Given the description of an element on the screen output the (x, y) to click on. 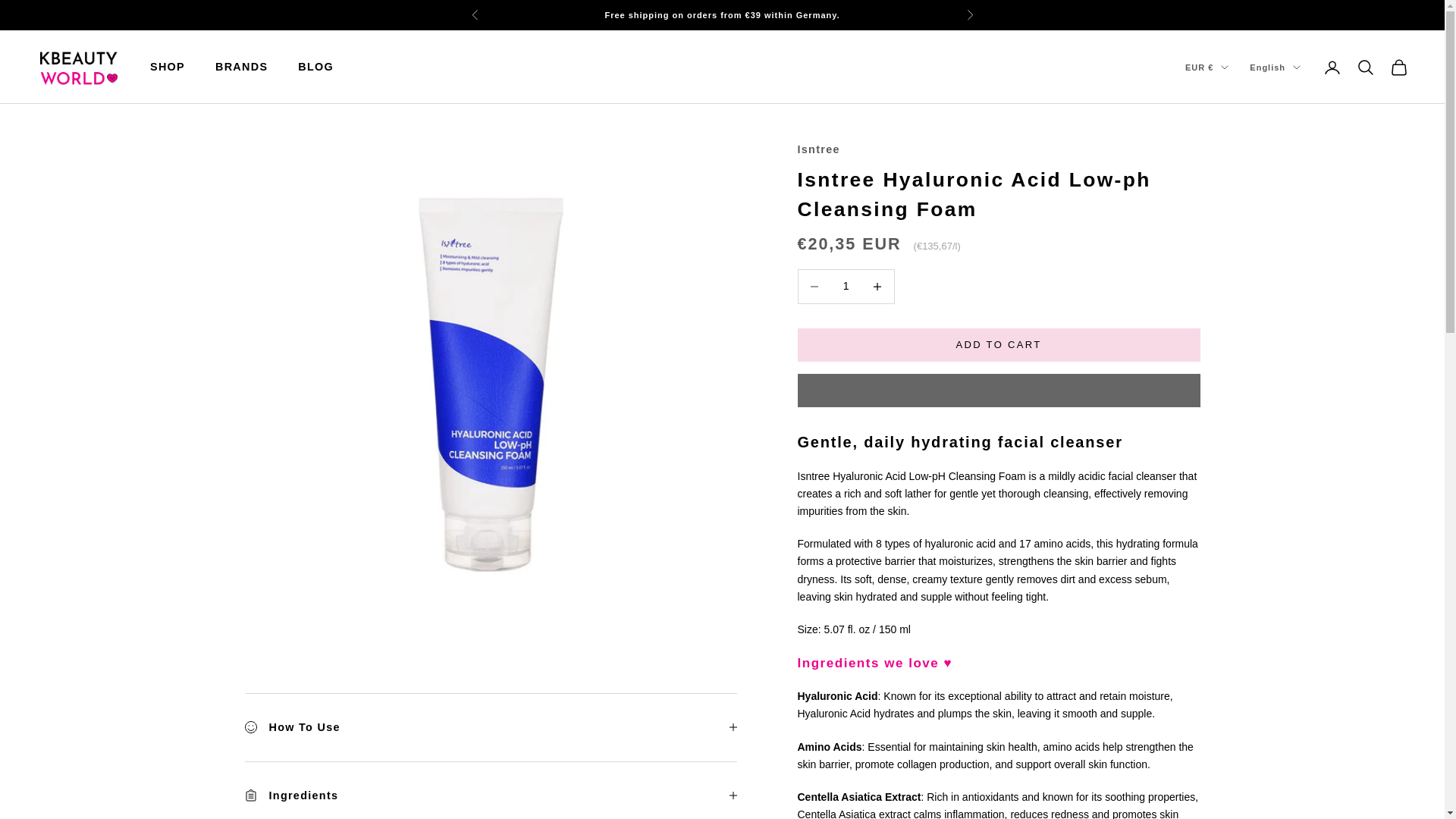
Next (968, 15)
K Beauty World (77, 67)
Previous (474, 15)
1 (490, 755)
